Given the description of an element on the screen output the (x, y) to click on. 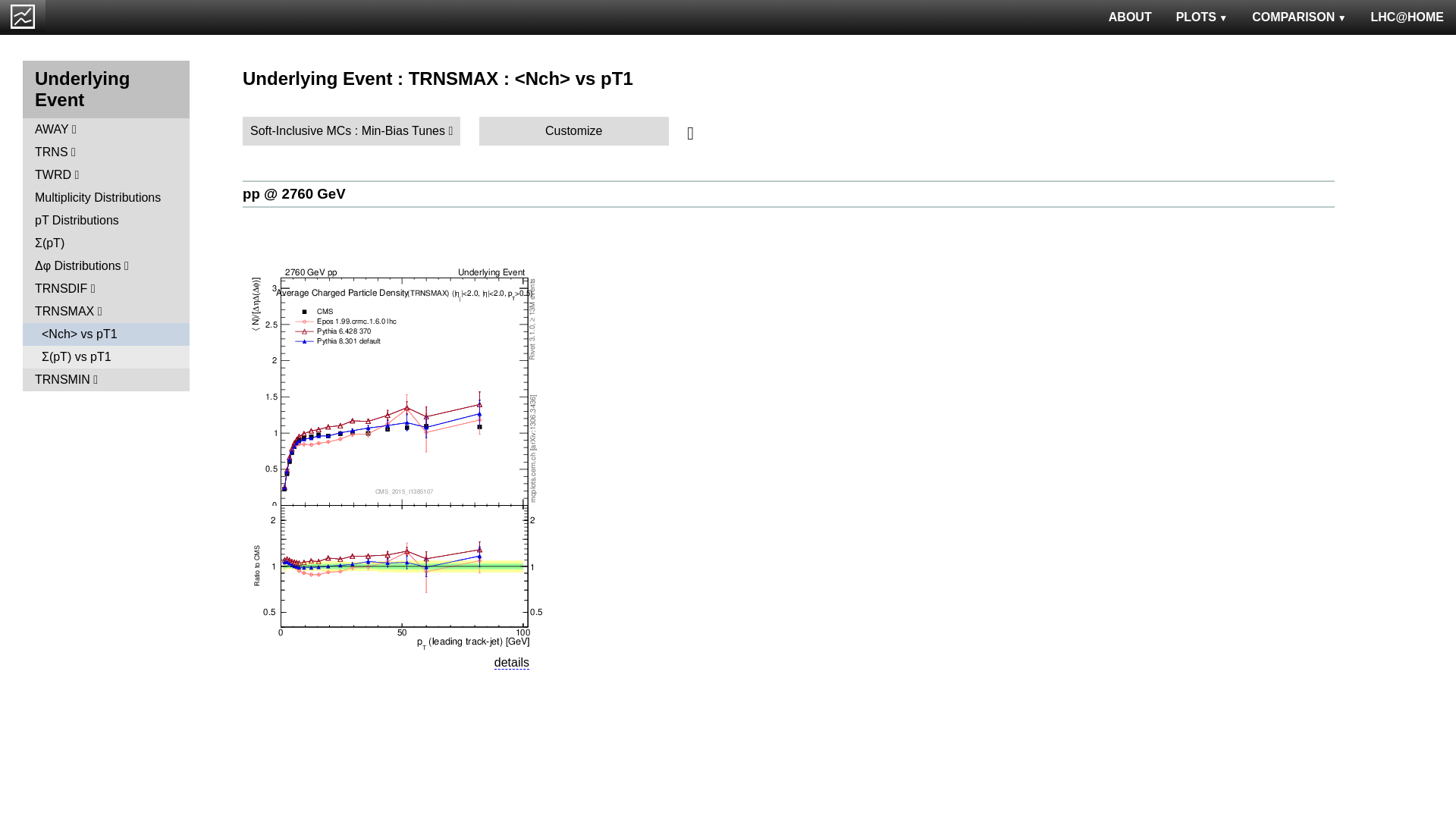
COMPARISON Element type: text (1298, 17)
Soft-Inclusive MCs : Min-Bias Tunes Element type: text (351, 130)
Customize Element type: text (573, 130)
pT Distributions Element type: text (105, 220)
PLOTS Element type: text (1202, 17)
ABOUT Element type: text (1130, 17)
Multiplicity Distributions Element type: text (105, 197)
<Nch> vs pT1 Element type: text (105, 334)
pp @ 2760 GeV Element type: text (293, 193)
